Given the description of an element on the screen output the (x, y) to click on. 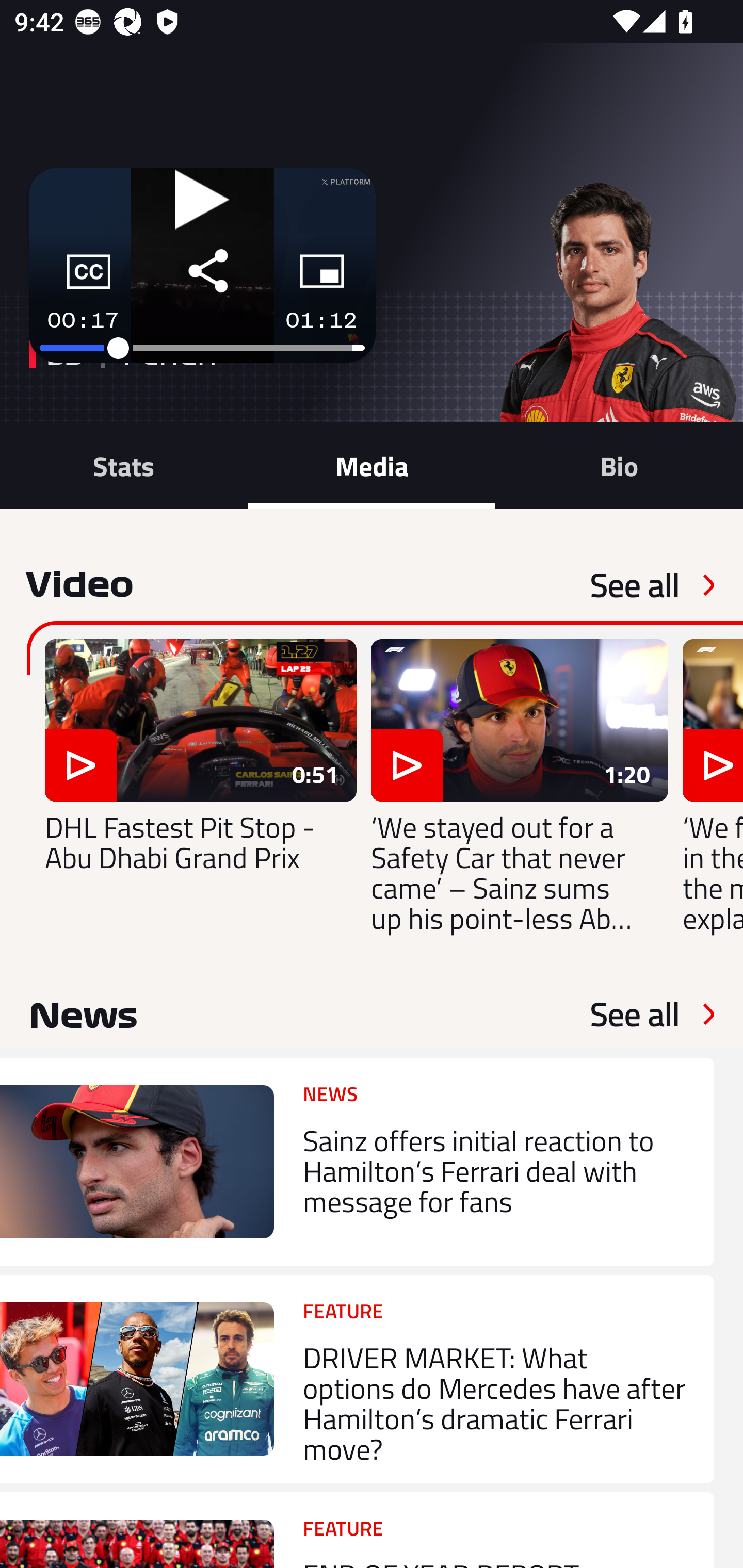
Stats (123, 465)
Bio (619, 465)
See all (634, 584)
See all (634, 1014)
